Given the description of an element on the screen output the (x, y) to click on. 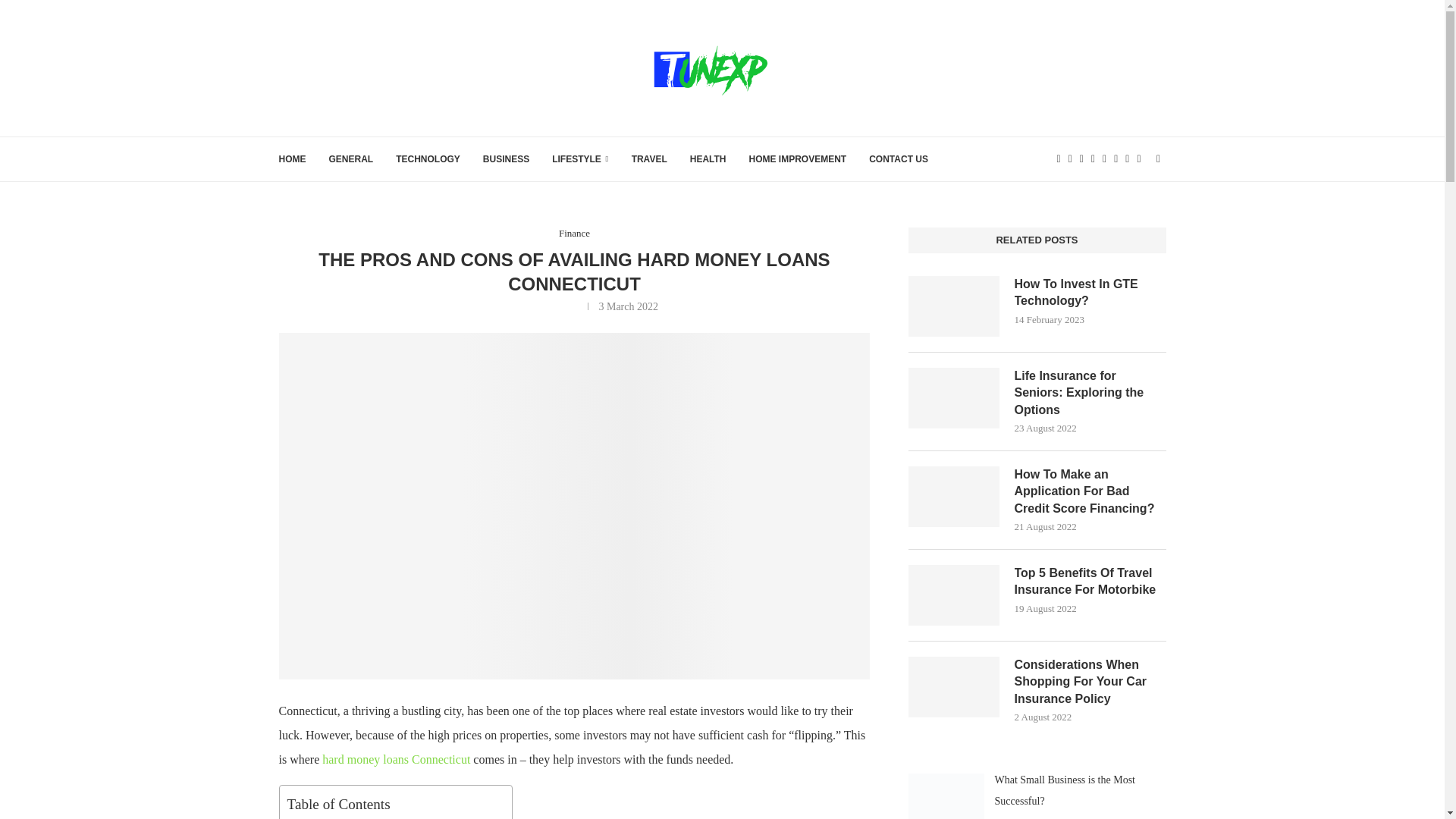
LIFESTYLE (579, 158)
Sudarsan (556, 306)
HOME IMPROVEMENT (798, 158)
TECHNOLOGY (428, 158)
BUSINESS (506, 158)
hard money loans Connecticut (395, 758)
Finance (574, 233)
CONTACT US (898, 158)
GENERAL (351, 158)
